Given the description of an element on the screen output the (x, y) to click on. 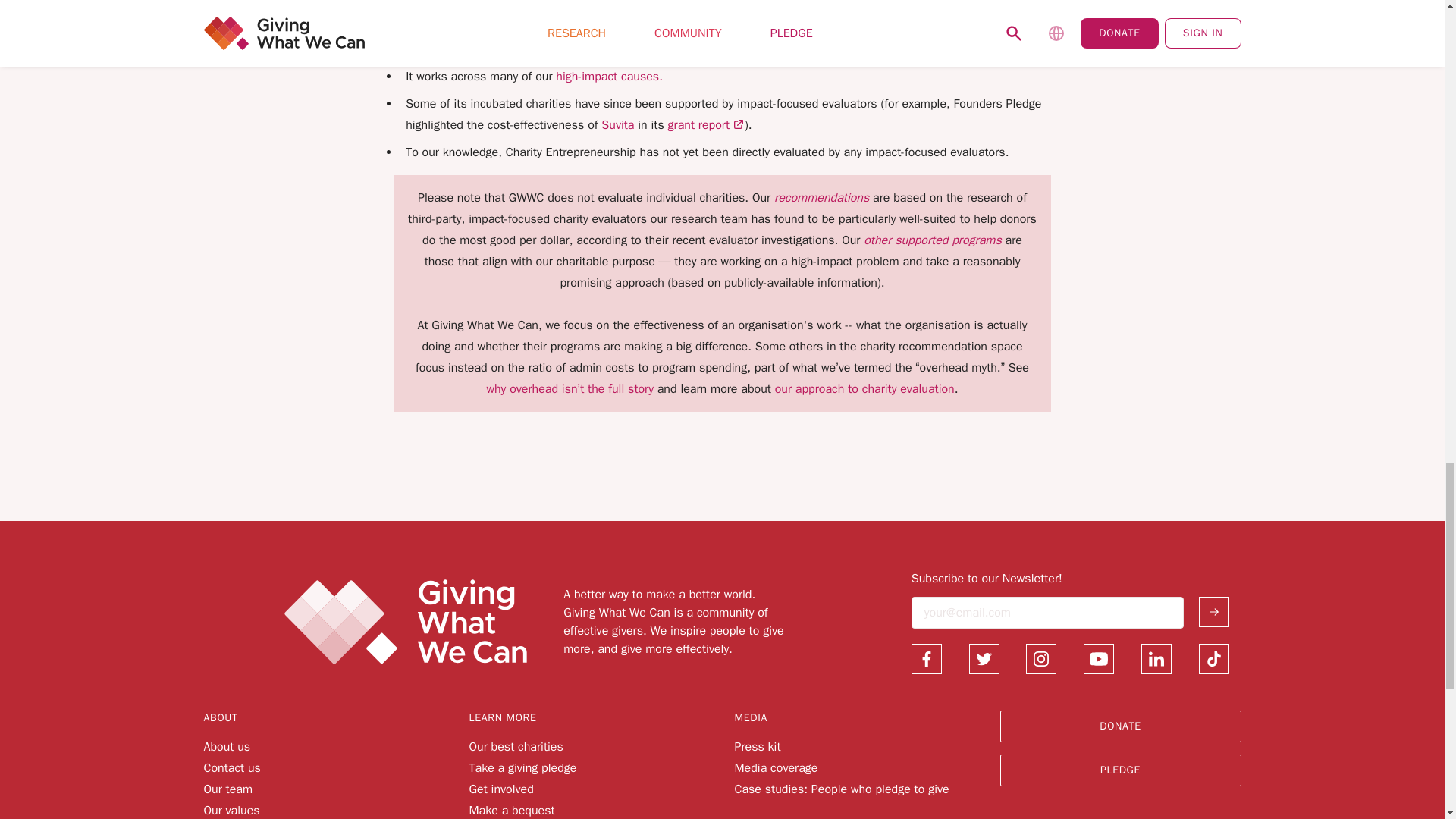
recommendations (823, 197)
our approach to charity evaluation (863, 388)
other supported programs (932, 240)
Submit (1213, 612)
Suvita (617, 124)
high-impact causes. (609, 76)
grant report (706, 124)
